Given the description of an element on the screen output the (x, y) to click on. 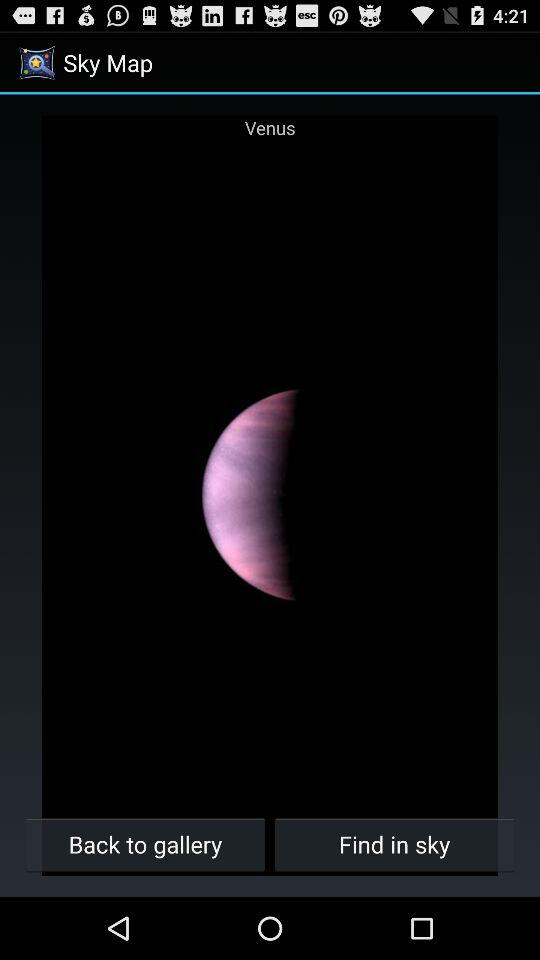
press button at the bottom left corner (145, 844)
